Given the description of an element on the screen output the (x, y) to click on. 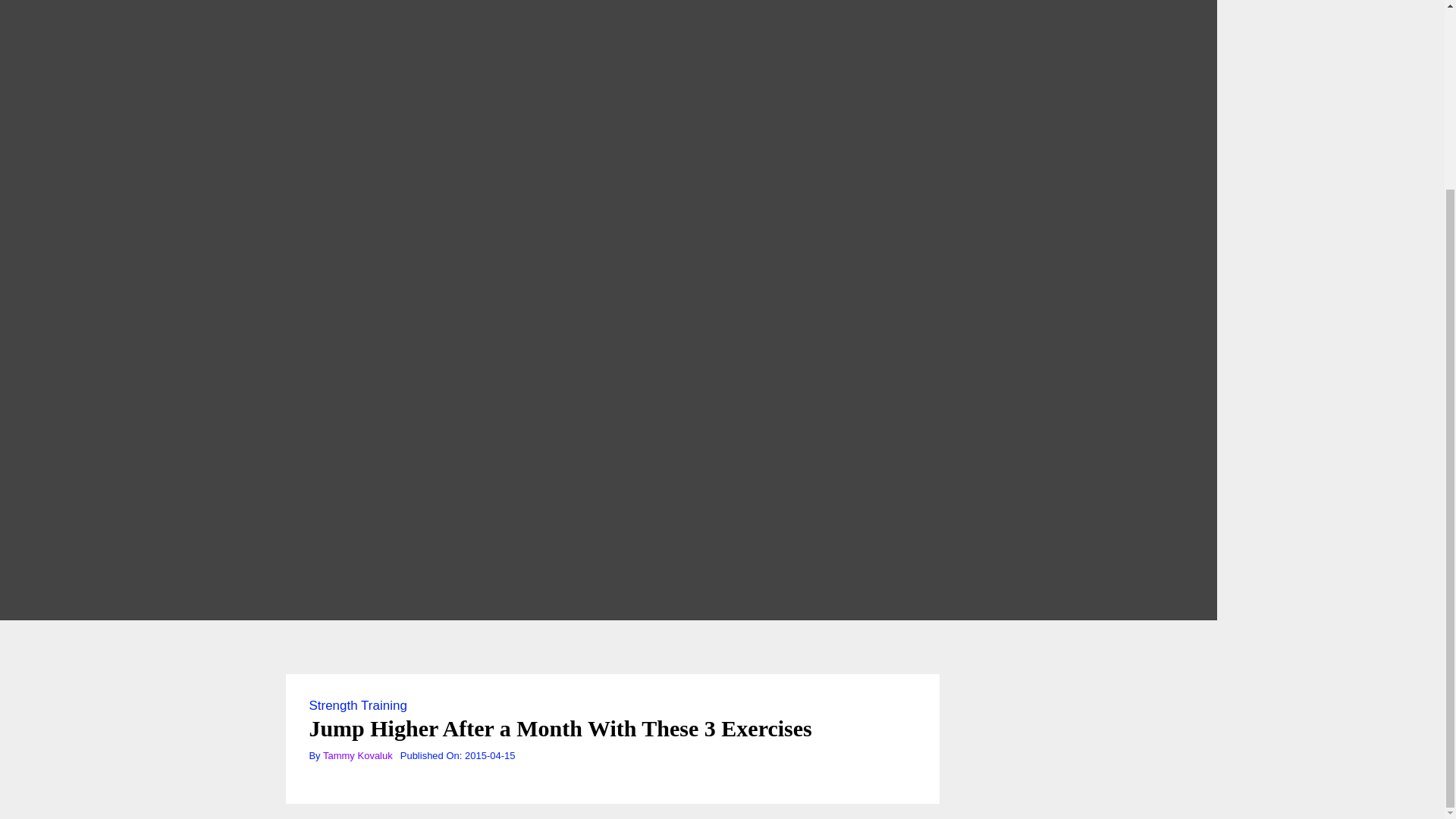
Posts by Tammy Kovaluk (358, 755)
Strength Training (357, 705)
